Given the description of an element on the screen output the (x, y) to click on. 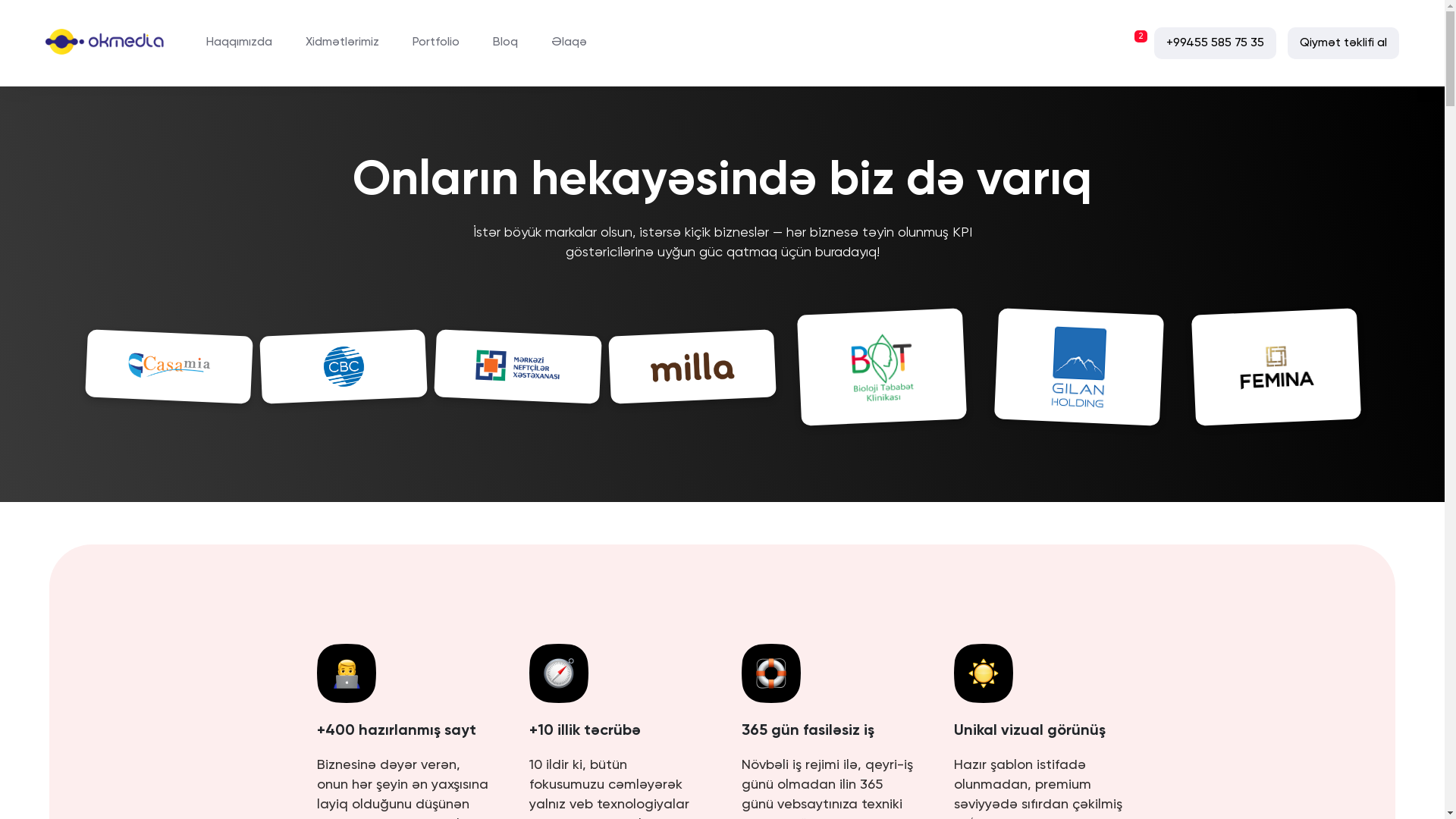
+99455 585 75 35 Element type: text (1215, 43)
Portfolio Element type: text (435, 42)
Bloq Element type: text (505, 42)
